Given the description of an element on the screen output the (x, y) to click on. 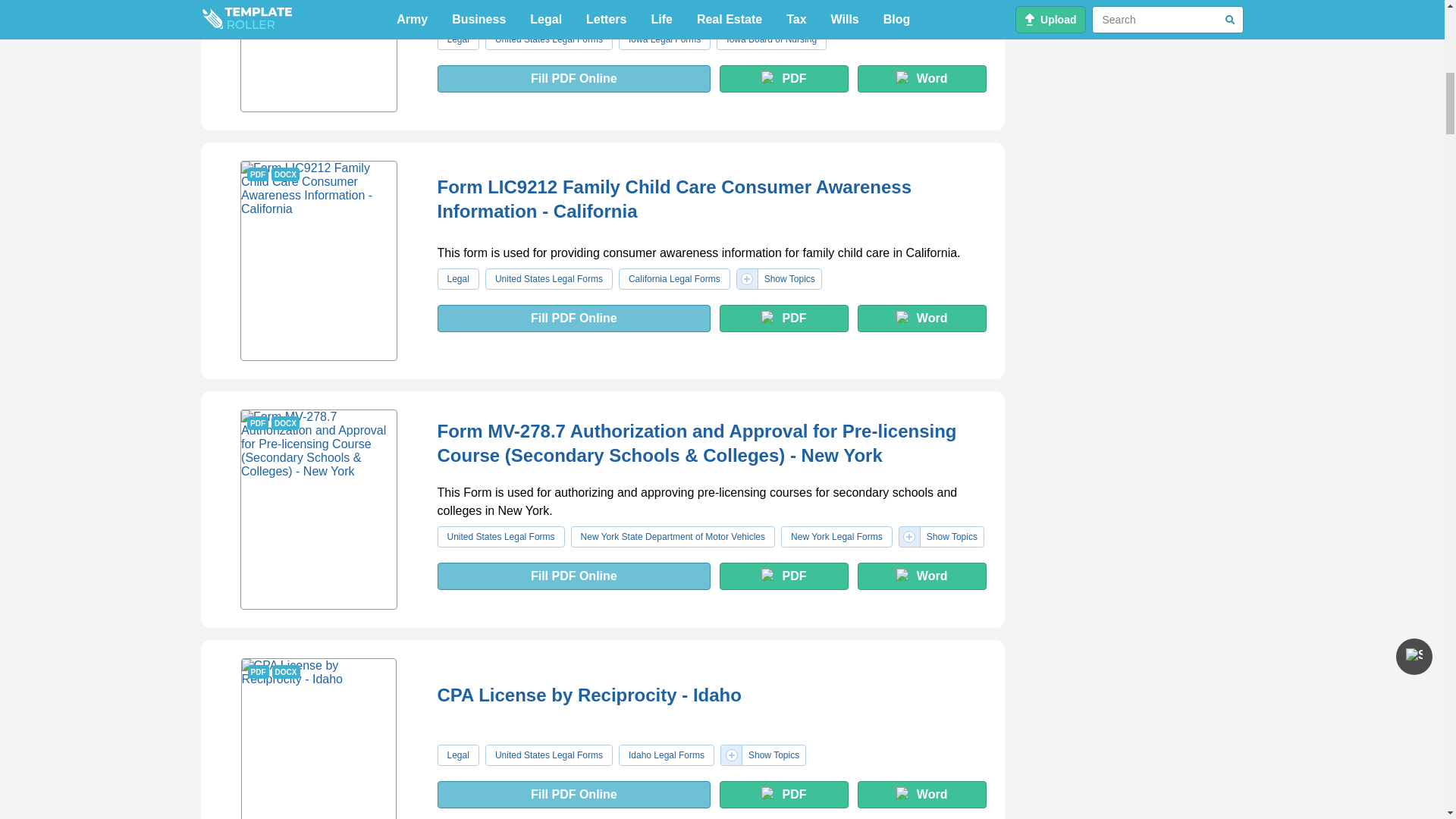
Iowa Legal Forms (664, 38)
Fill PDF Online (318, 56)
PDF (573, 78)
United States Legal Forms (783, 78)
Iowa Board of Nursing (548, 38)
Legal (771, 38)
